Given the description of an element on the screen output the (x, y) to click on. 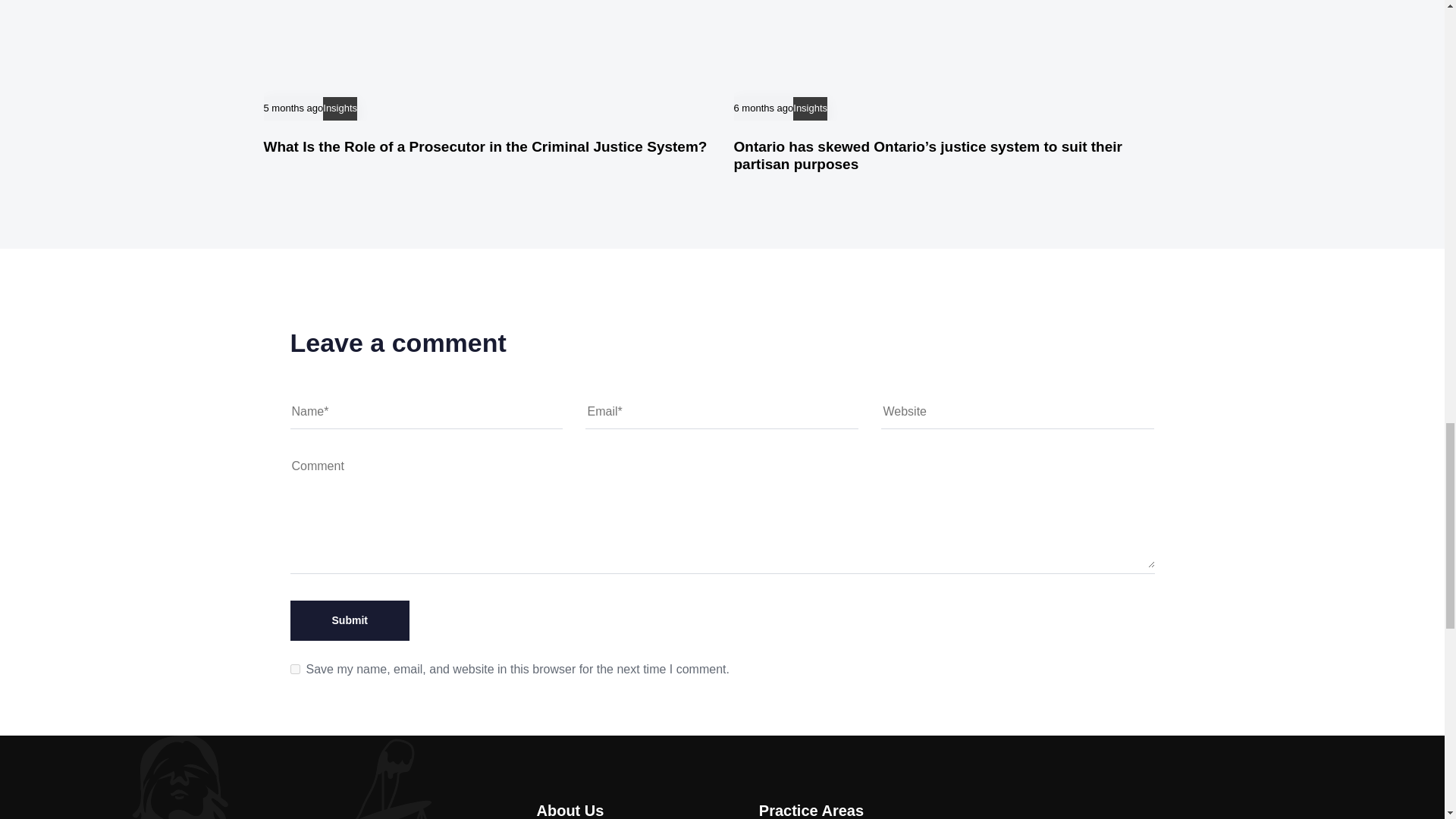
Submit (349, 620)
yes (294, 669)
